Given the description of an element on the screen output the (x, y) to click on. 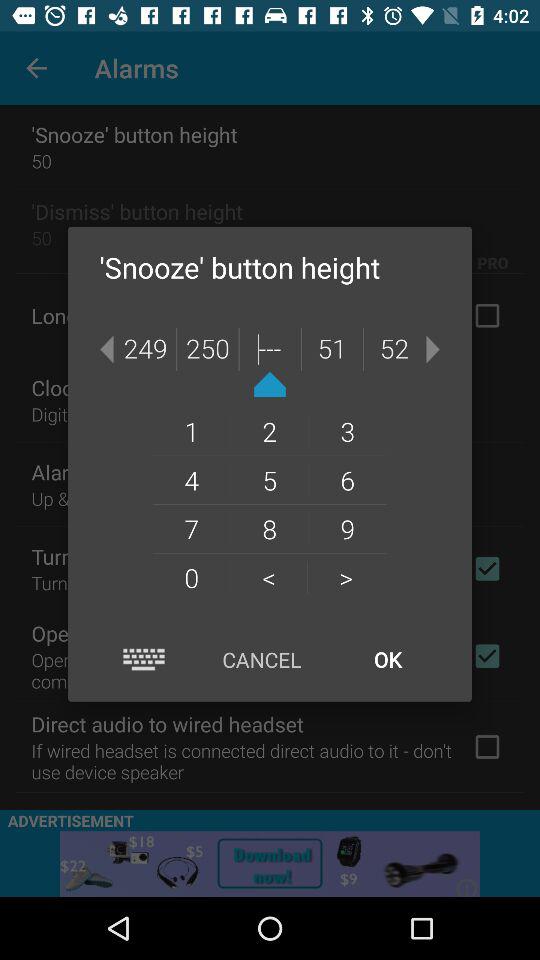
scroll until < item (268, 577)
